Given the description of an element on the screen output the (x, y) to click on. 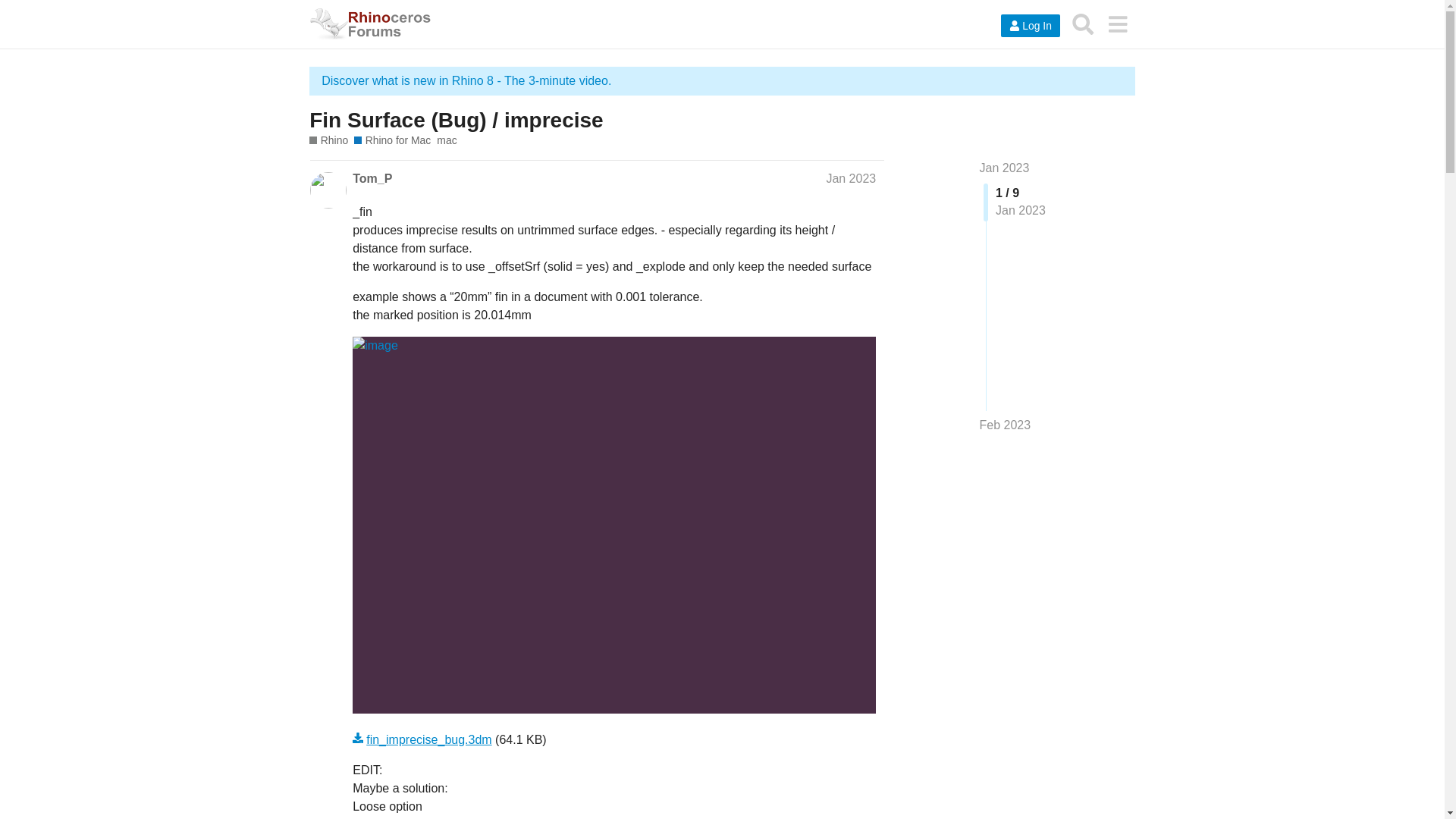
Jan 2023 (1004, 167)
menu (1117, 23)
Ask questions related to Rhino in this category. (327, 140)
Search (1082, 23)
Log In (1030, 25)
Rhino for Mac (391, 140)
Discover what is new in Rhino 8 - The 3-minute video. (466, 80)
mac (446, 140)
Topics related to Rhino for Mac (391, 140)
Post date (850, 178)
Feb 2023 (1004, 425)
Jan 2023 (850, 178)
Rhino (327, 140)
Jump to the first post (1004, 167)
